Given the description of an element on the screen output the (x, y) to click on. 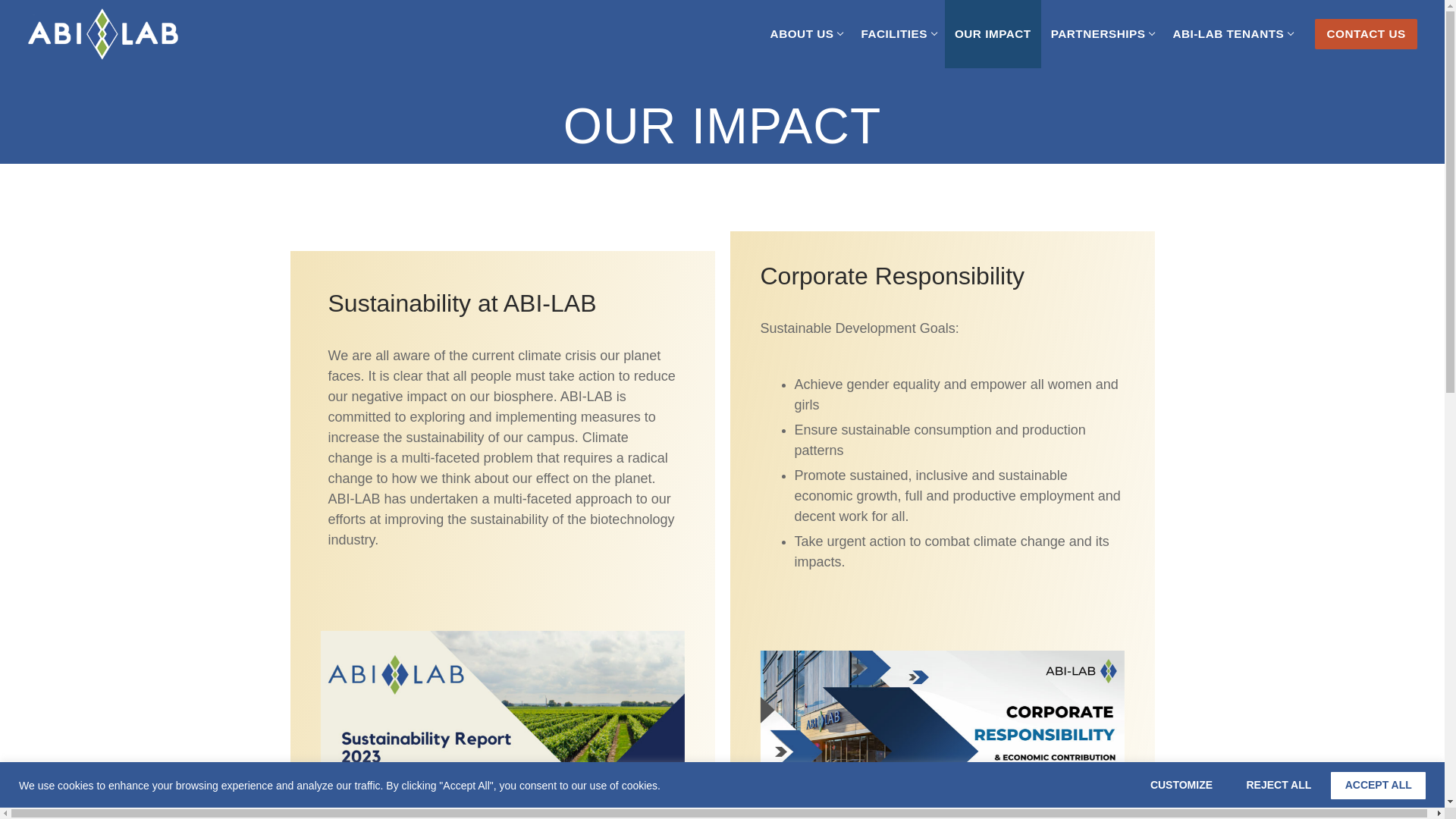
REJECT ALL (1277, 785)
CONTACT US (805, 33)
OUR IMPACT (1365, 33)
CUSTOMIZE (896, 33)
ACCEPT ALL (1102, 33)
